Given the description of an element on the screen output the (x, y) to click on. 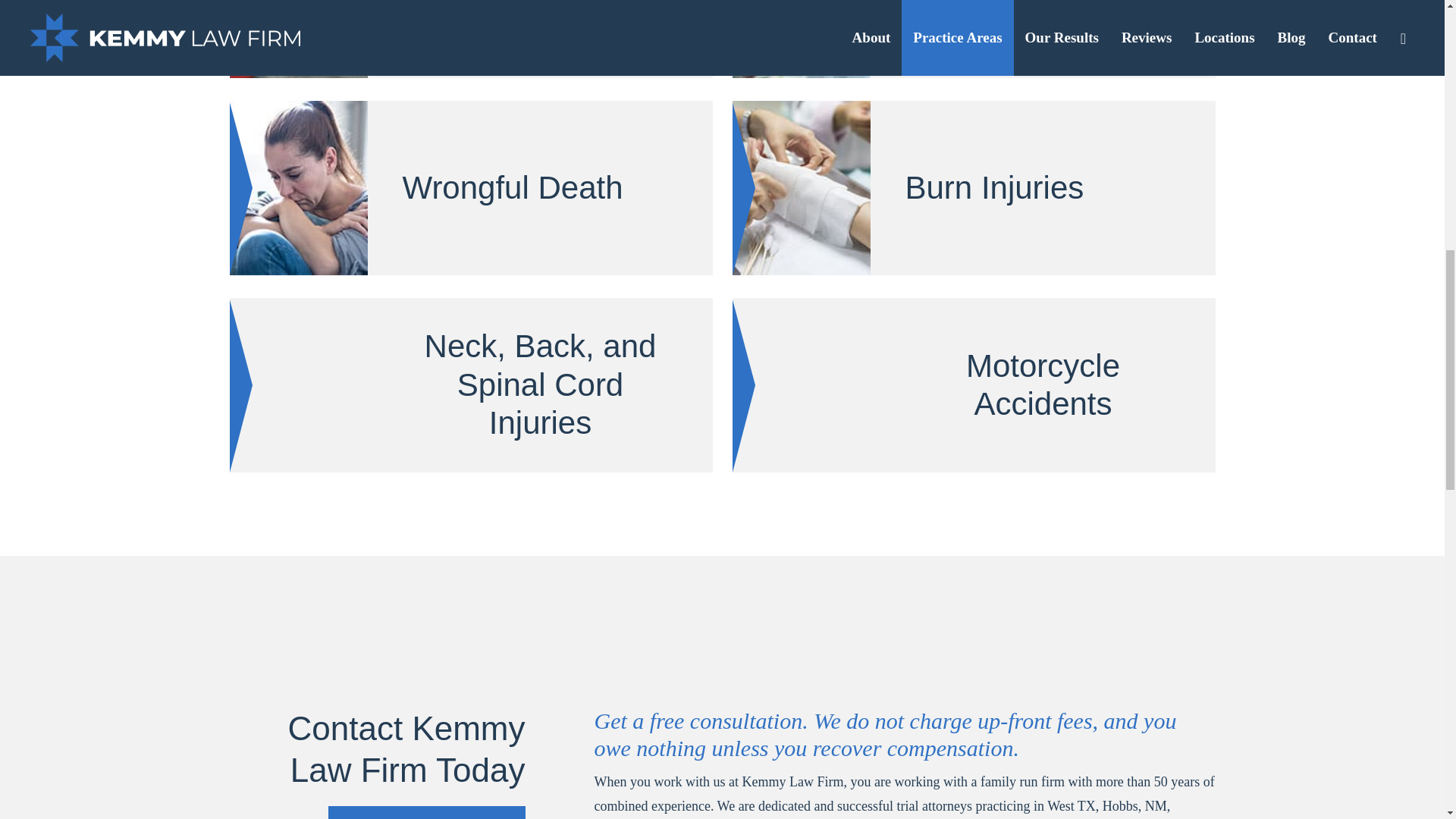
Call Kemmy Law Firm Today (425, 812)
  Burn Injuries (973, 187)
  Work Injuries (469, 38)
  Wrongful Death (469, 187)
Learn more about Motorcycle Accidents (973, 385)
Learn more about Work Injuries (469, 38)
Learn more about Burn Injuries (973, 187)
  Neck, Back, and Spinal Cord Injuries (469, 385)
Learn more about Wrongful Death (469, 187)
Learn more about Neck, Back, and Spinal Cord Injuries (469, 385)
